Given the description of an element on the screen output the (x, y) to click on. 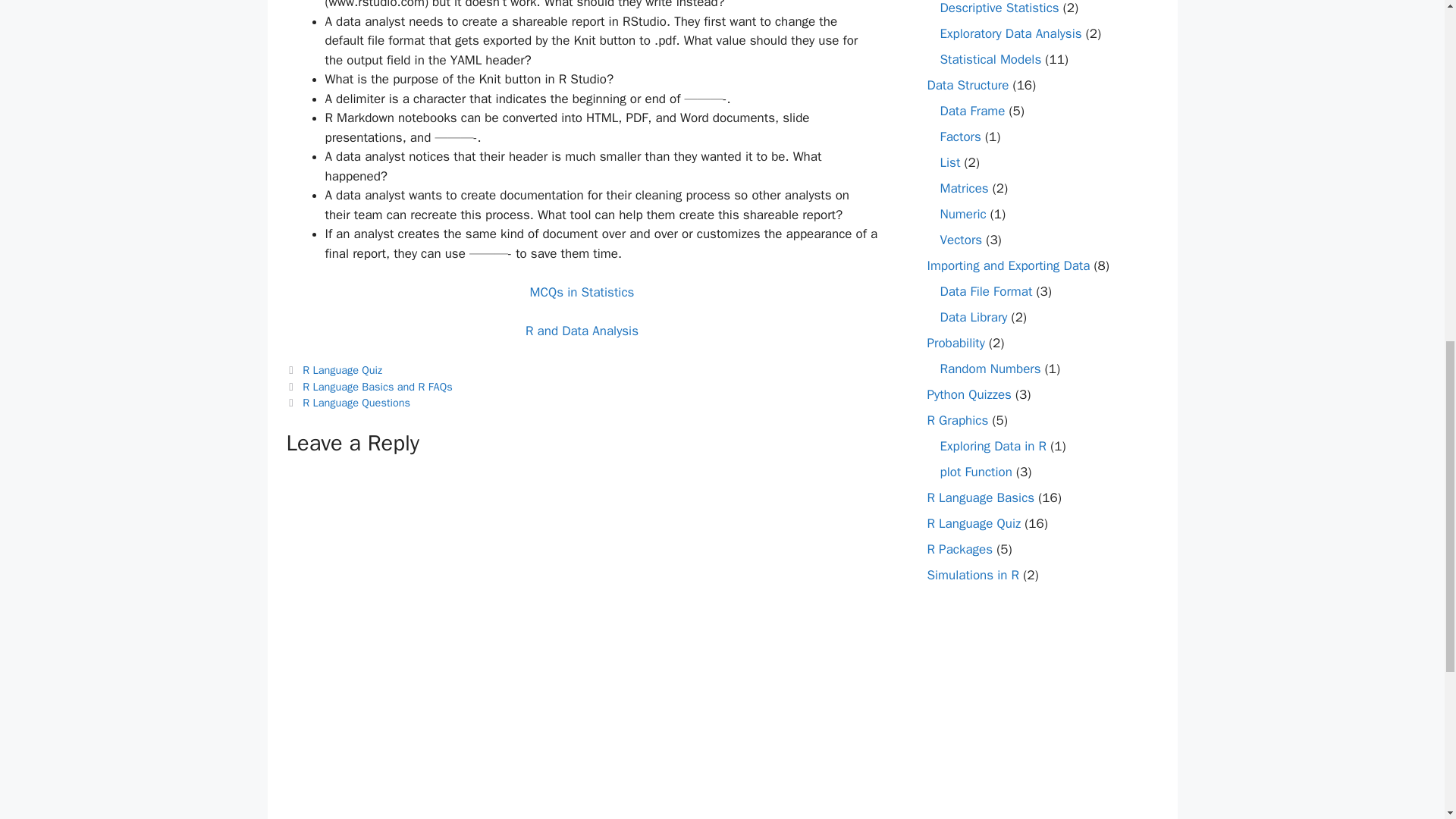
MCQs in Statistics (581, 292)
R and Data Analysis (582, 330)
